Given the description of an element on the screen output the (x, y) to click on. 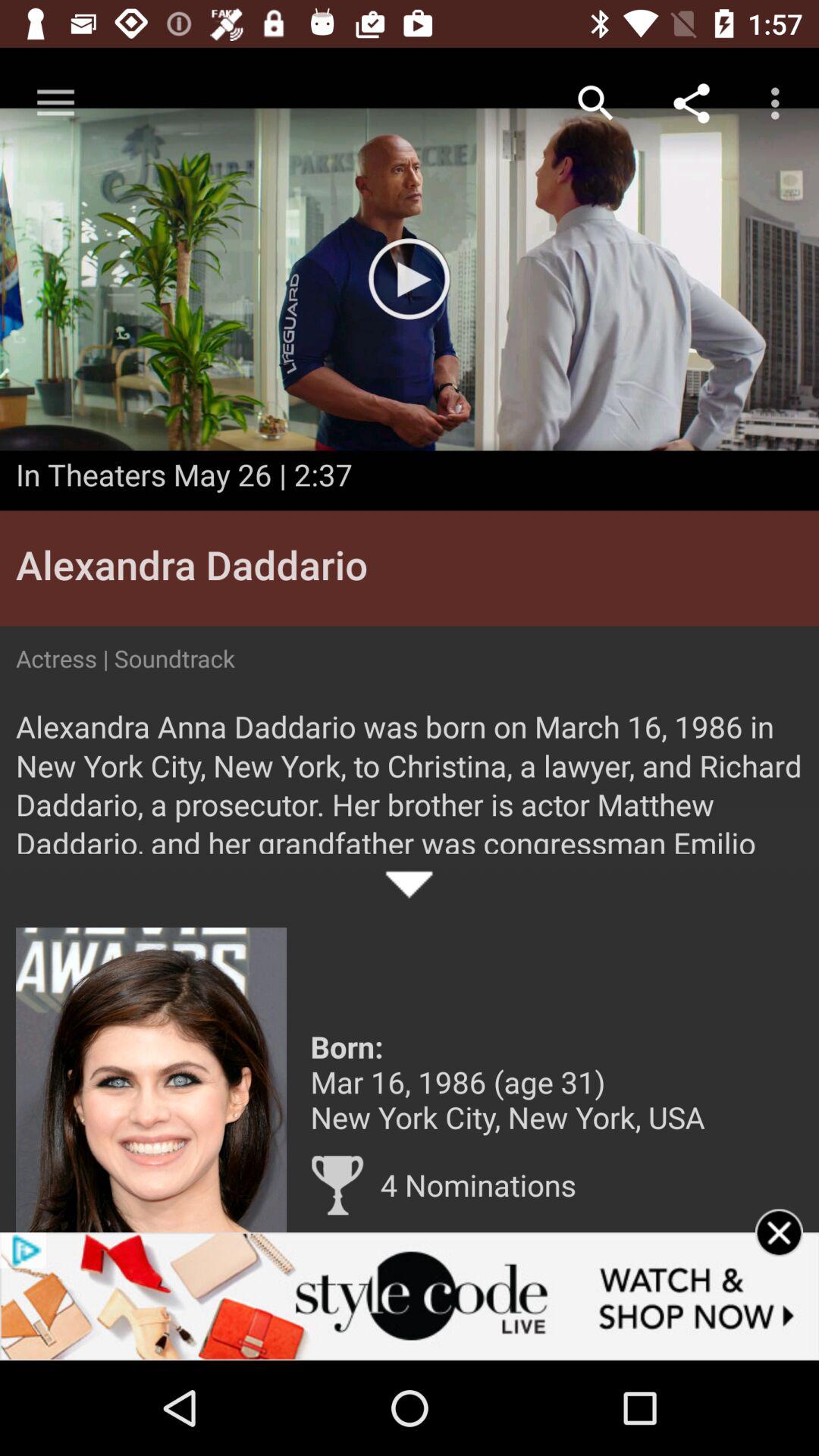
close the advertisement (779, 1252)
